Given the description of an element on the screen output the (x, y) to click on. 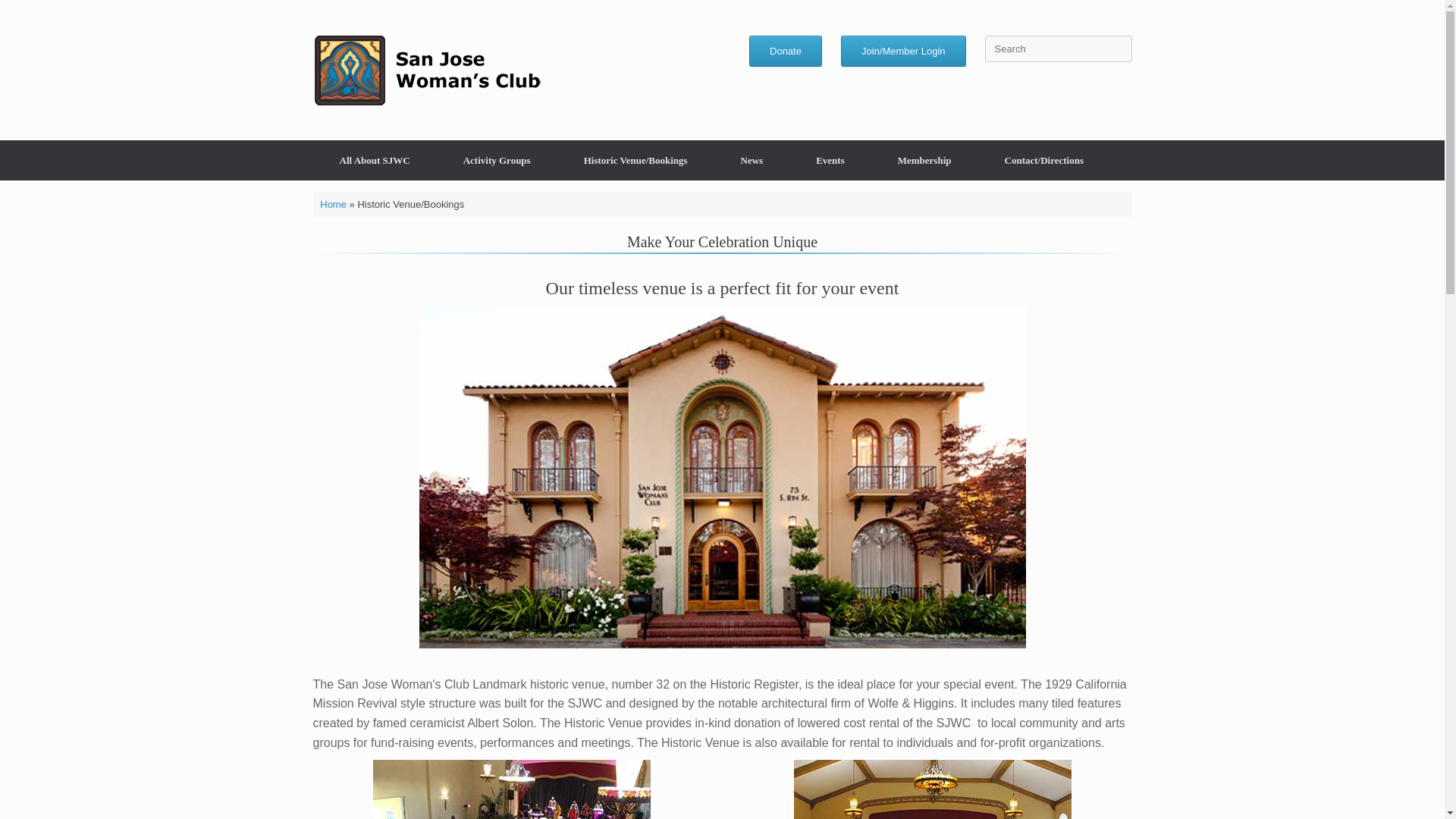
Donate (785, 51)
San Jose Woman's Club (426, 70)
Membership (924, 160)
News (752, 160)
Activity Groups (496, 160)
Events (829, 160)
All About SJWC (374, 160)
Home (333, 204)
